Given the description of an element on the screen output the (x, y) to click on. 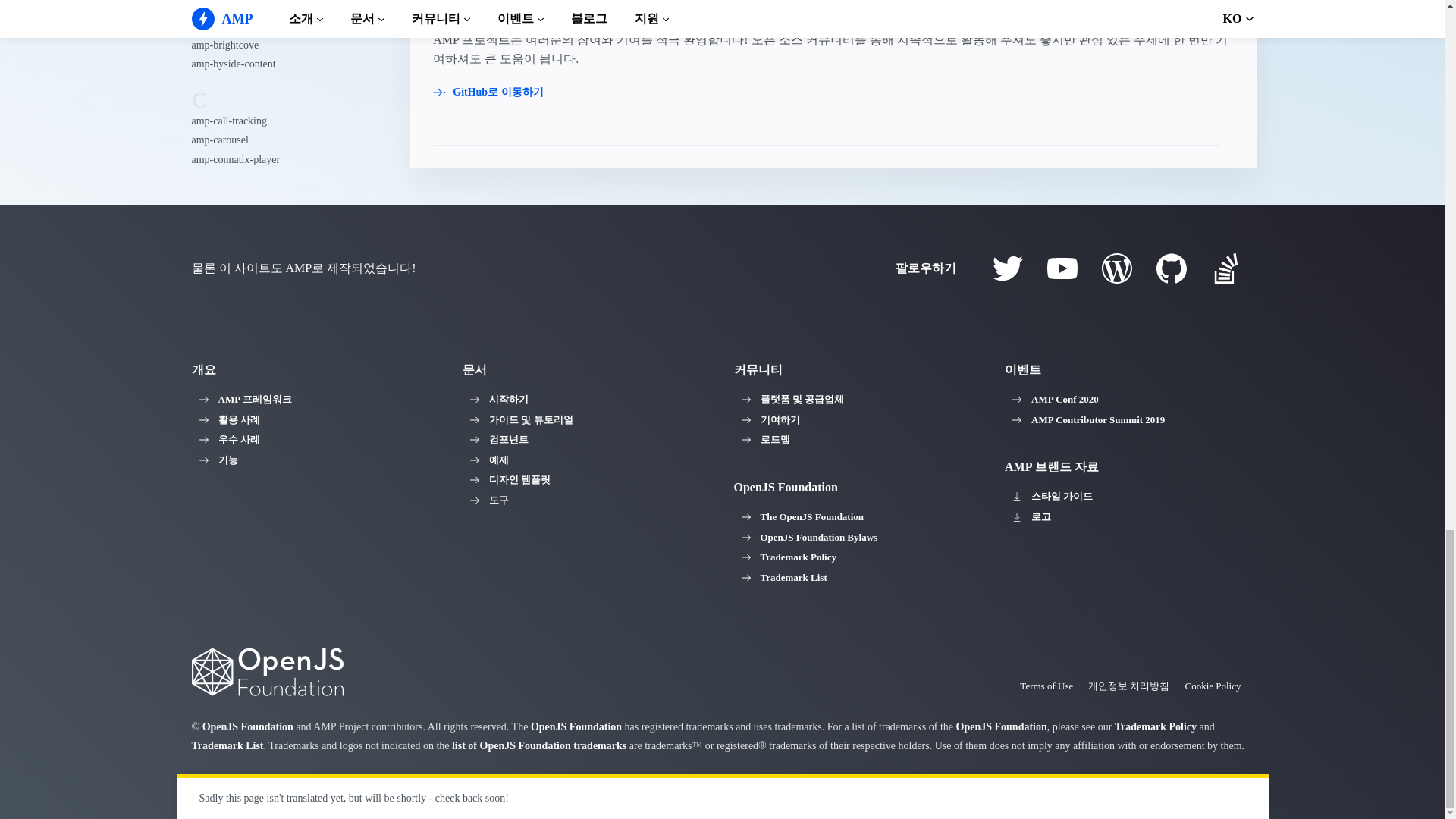
YouTube (1061, 268)
WordPress (1115, 268)
Twitter (1006, 268)
GitHub (1171, 268)
Stackoverflow (1224, 268)
